Given the description of an element on the screen output the (x, y) to click on. 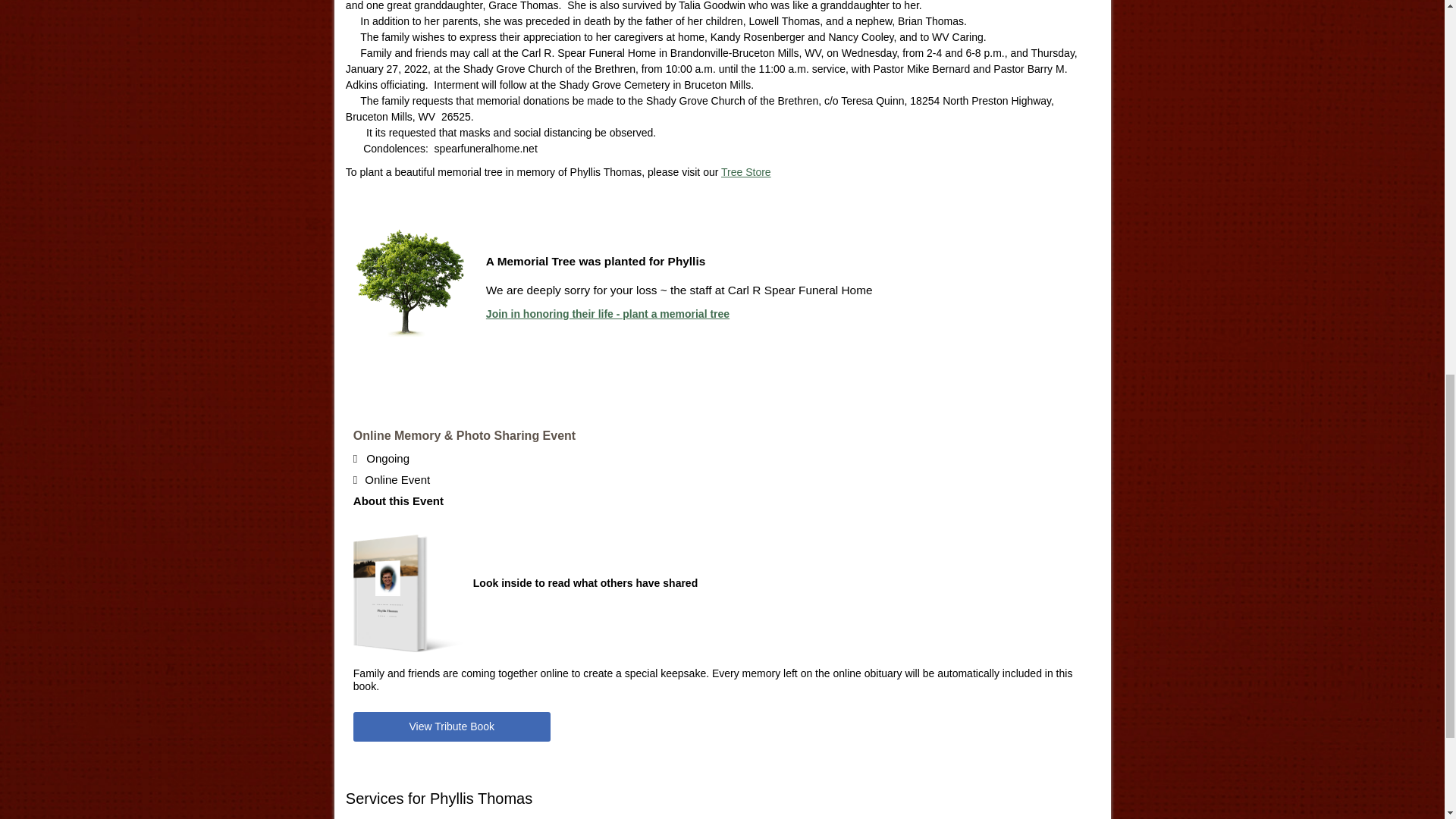
View Tribute Book (451, 726)
Tree Store (745, 172)
Join in honoring their life - plant a memorial tree (607, 313)
